Given the description of an element on the screen output the (x, y) to click on. 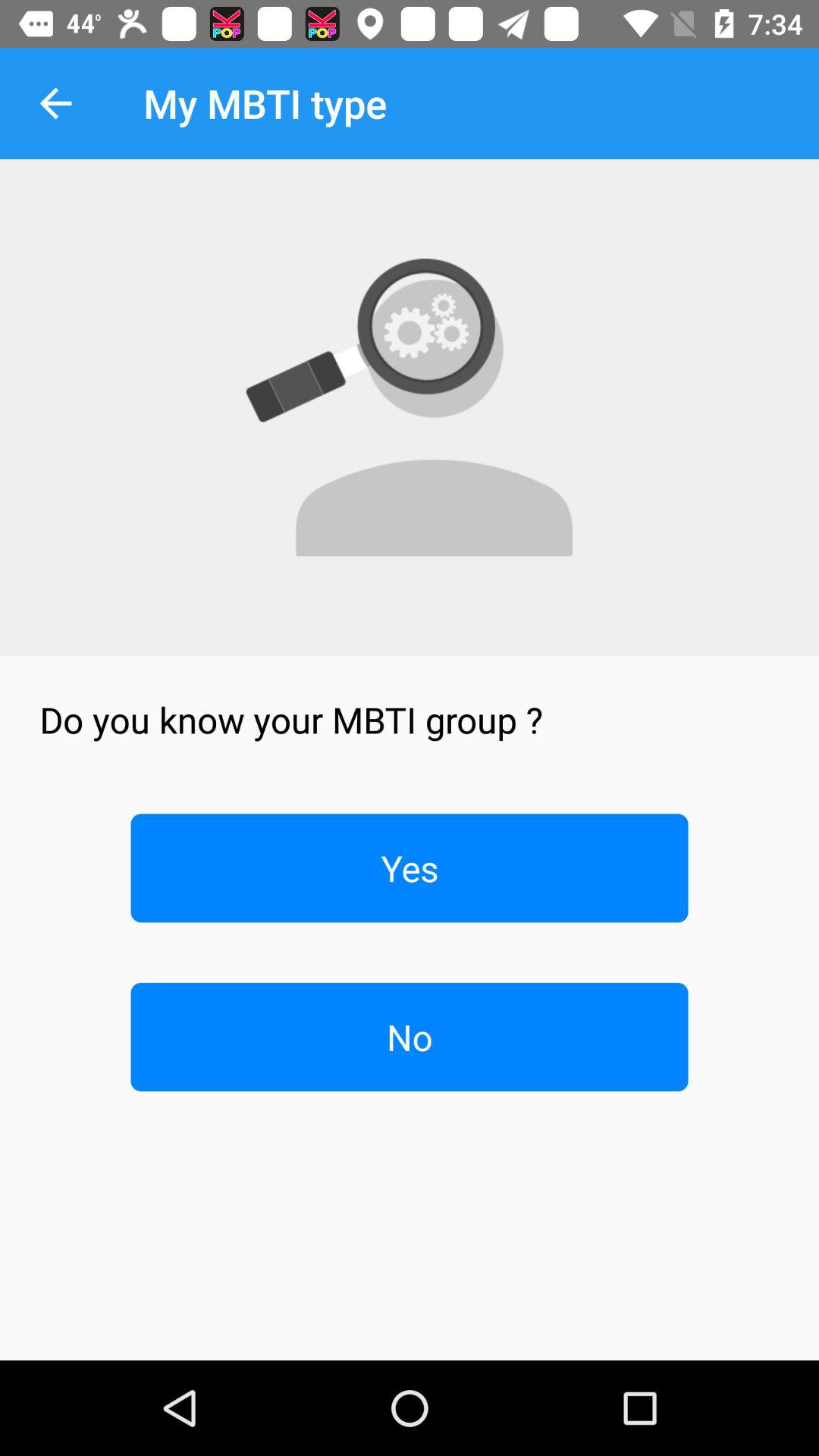
turn on item below the yes (409, 1036)
